Given the description of an element on the screen output the (x, y) to click on. 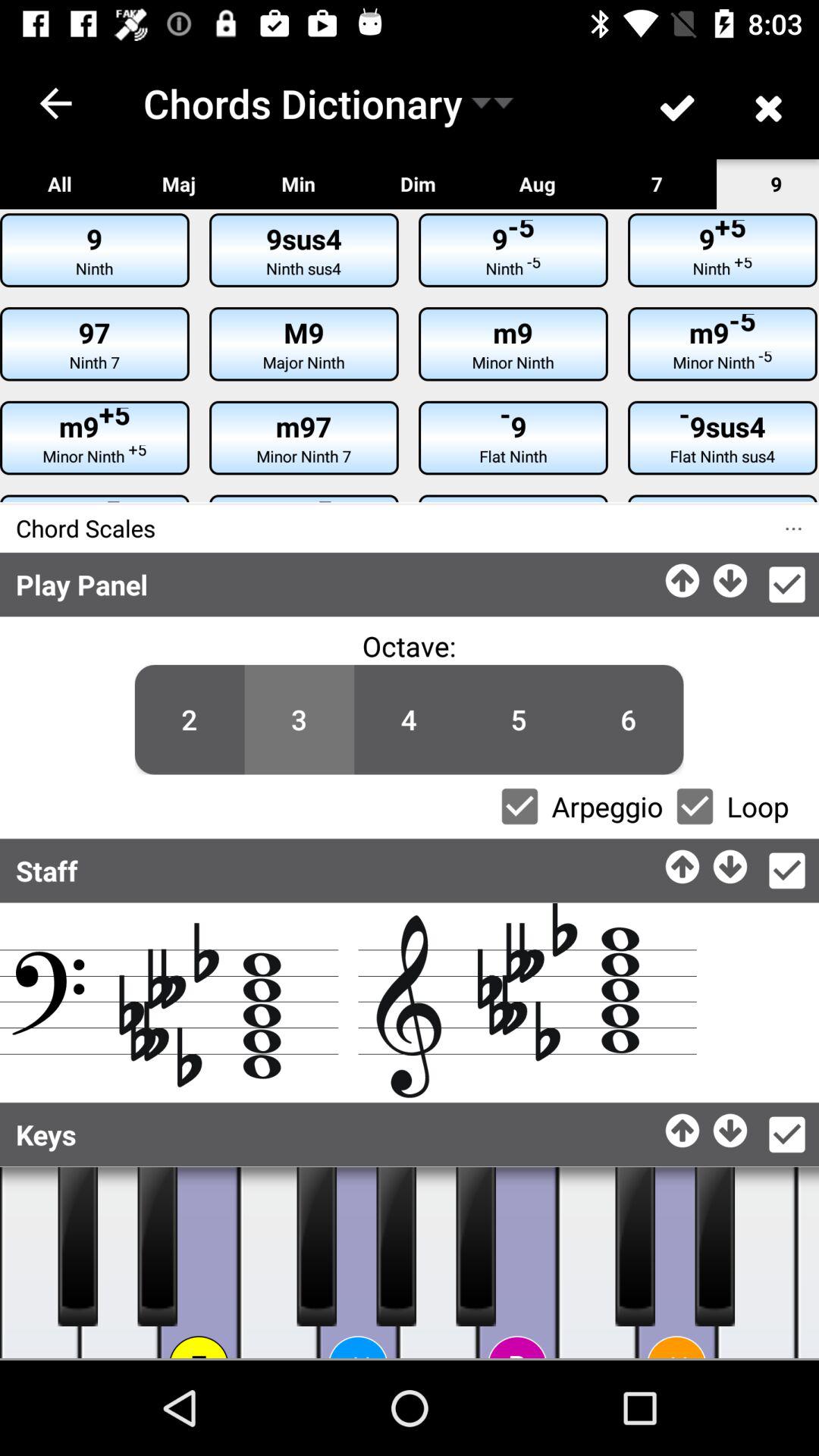
select/deselect arpeggio (519, 806)
